Given the description of an element on the screen output the (x, y) to click on. 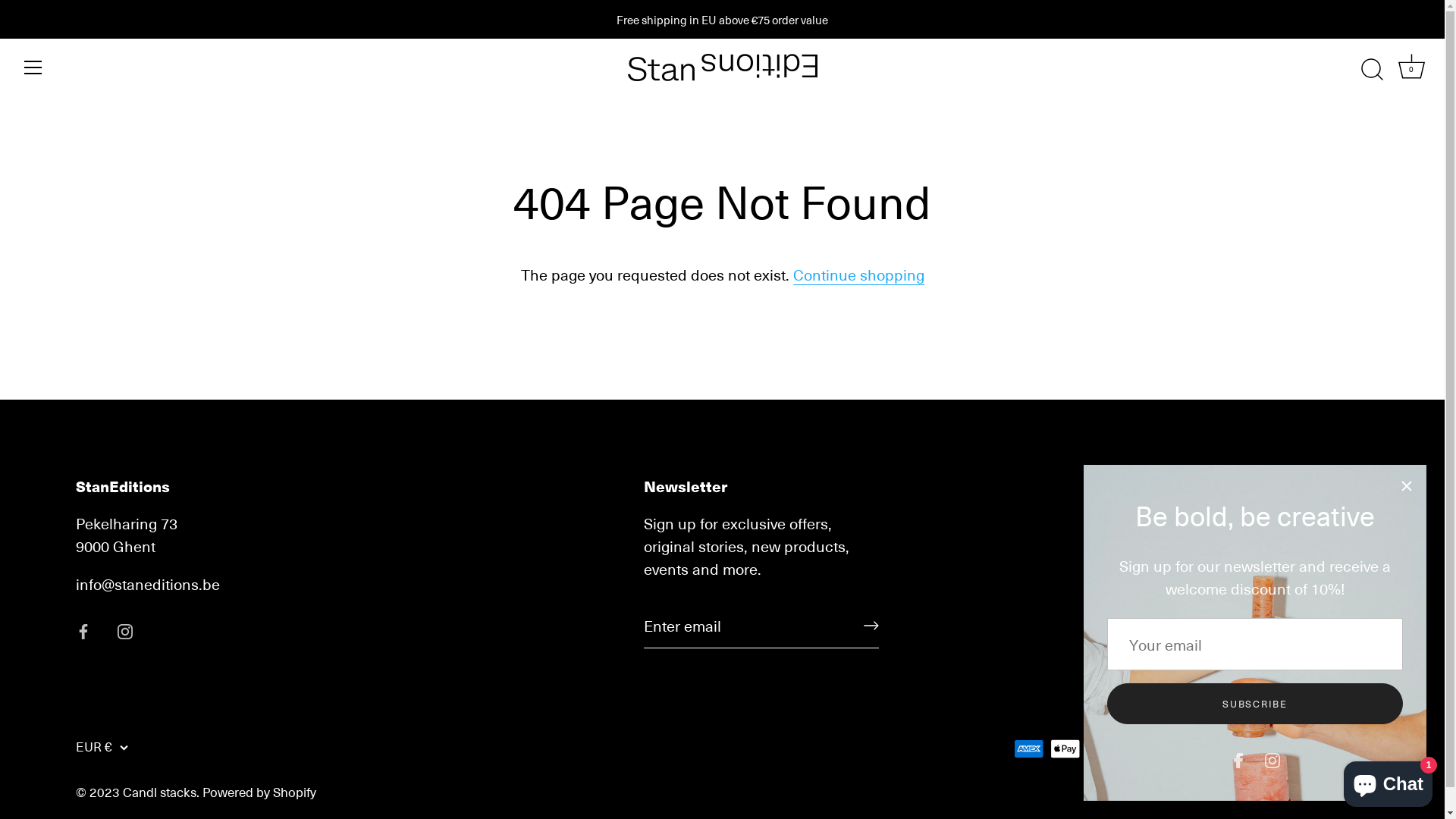
Shipping & returns Element type: text (1192, 583)
Instagram Element type: text (124, 628)
Cart
0 Element type: text (1410, 69)
Privacy policy Element type: text (1173, 613)
Do not sell my personal information Element type: text (1247, 643)
Continue shopping Element type: text (858, 274)
Shopify online store chat Element type: hover (1388, 780)
Instagram Element type: text (1272, 757)
RIGHT ARROW LONG Element type: text (870, 625)
Zoeken Element type: text (1152, 522)
Candl stacks Element type: text (159, 792)
Terms & conditions Element type: text (1194, 552)
SUBSCRIBE Element type: text (1254, 703)
Powered by Shopify Element type: text (259, 792)
